Given the description of an element on the screen output the (x, y) to click on. 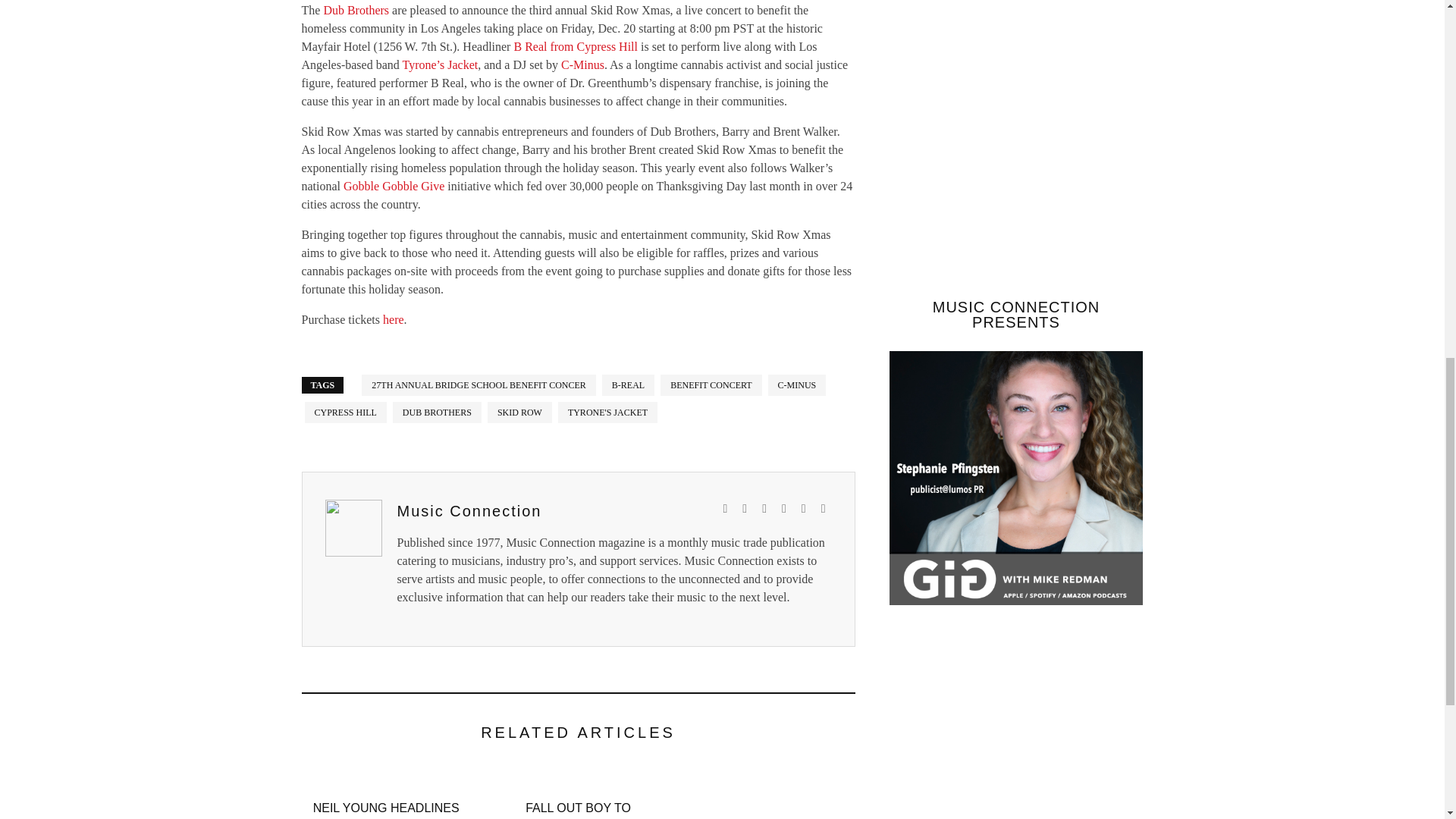
View all posts tagged benefit concert (711, 384)
View all posts tagged tyrone's jacket (607, 412)
View all posts tagged c-minus (797, 384)
View all posts tagged b-real (627, 384)
View all posts tagged Cypress Hill (345, 412)
View all posts tagged skid row (519, 412)
View all posts tagged dub brothers (437, 412)
